Given the description of an element on the screen output the (x, y) to click on. 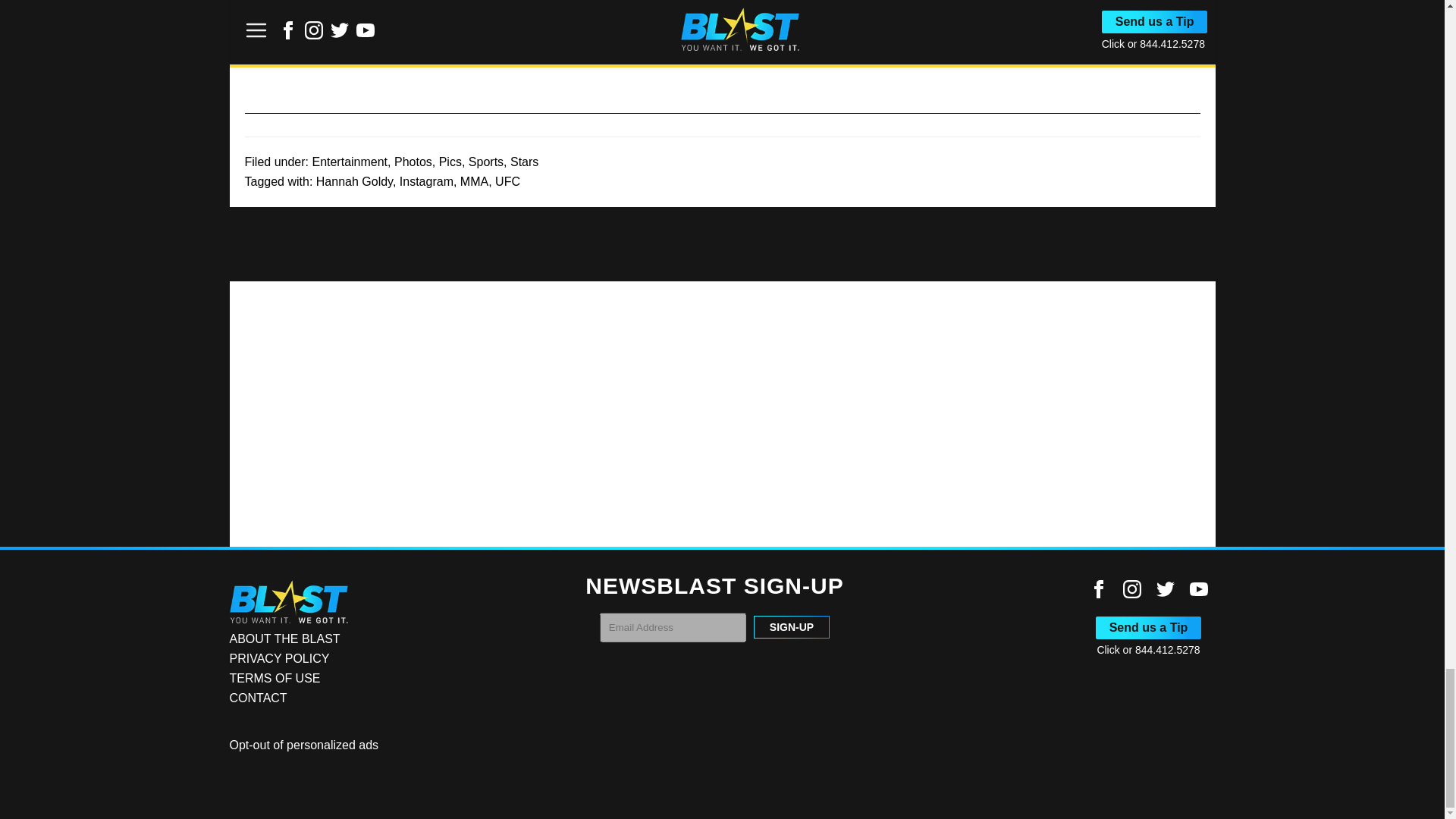
Pics (450, 161)
UFC (507, 181)
Link to Instagram (1131, 588)
PRIVACY POLICY (278, 658)
Sports (485, 161)
Link to Twitter (1164, 588)
ABOUT THE BLAST (283, 638)
Link to Youtube (1198, 588)
MMA (473, 181)
TERMS OF USE (274, 677)
Stars (524, 161)
Link to Facebook (1097, 588)
Entertainment (349, 161)
Photos (413, 161)
SIGN-UP (791, 626)
